Given the description of an element on the screen output the (x, y) to click on. 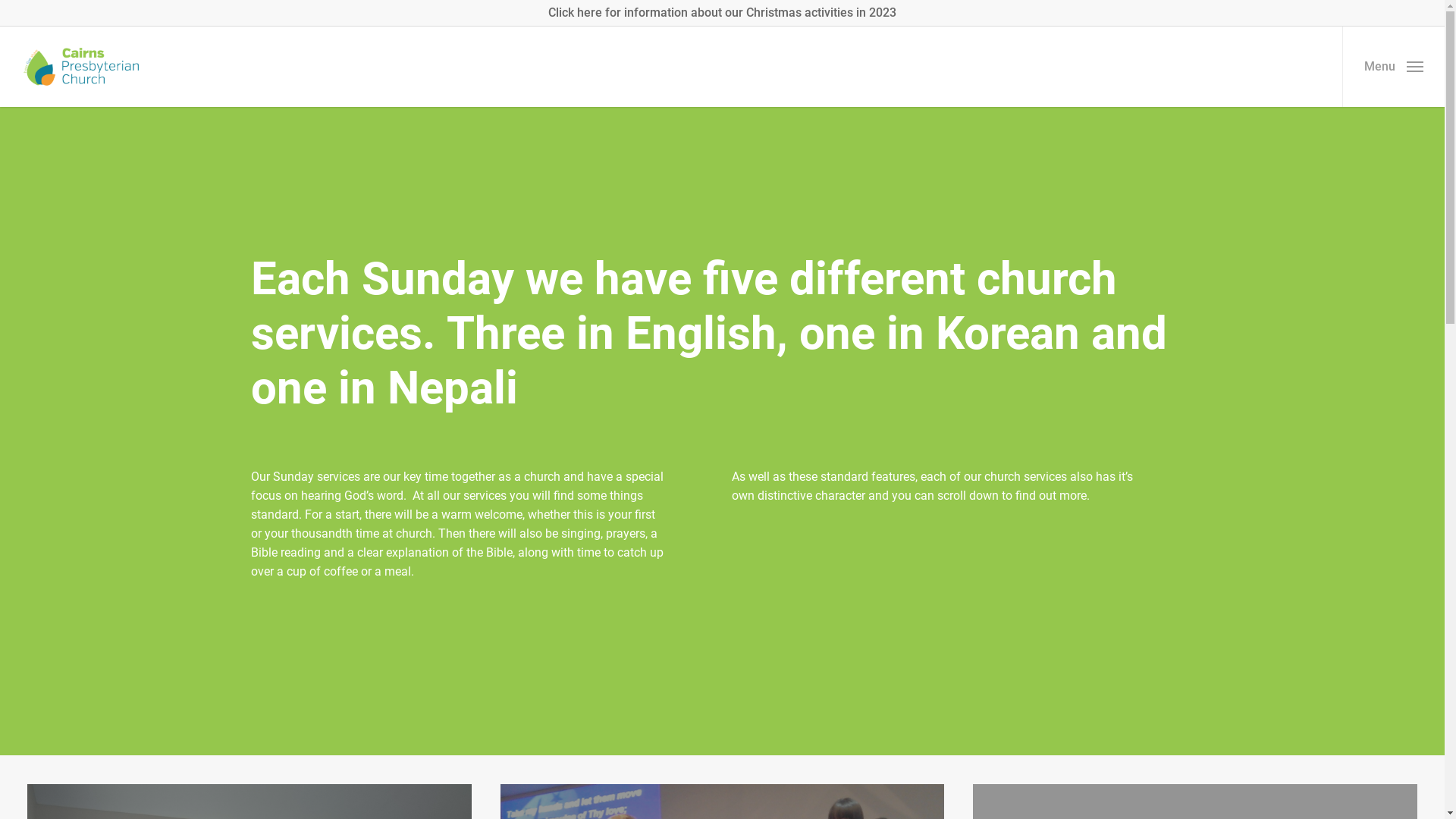
Menu Element type: text (1393, 66)
